Given the description of an element on the screen output the (x, y) to click on. 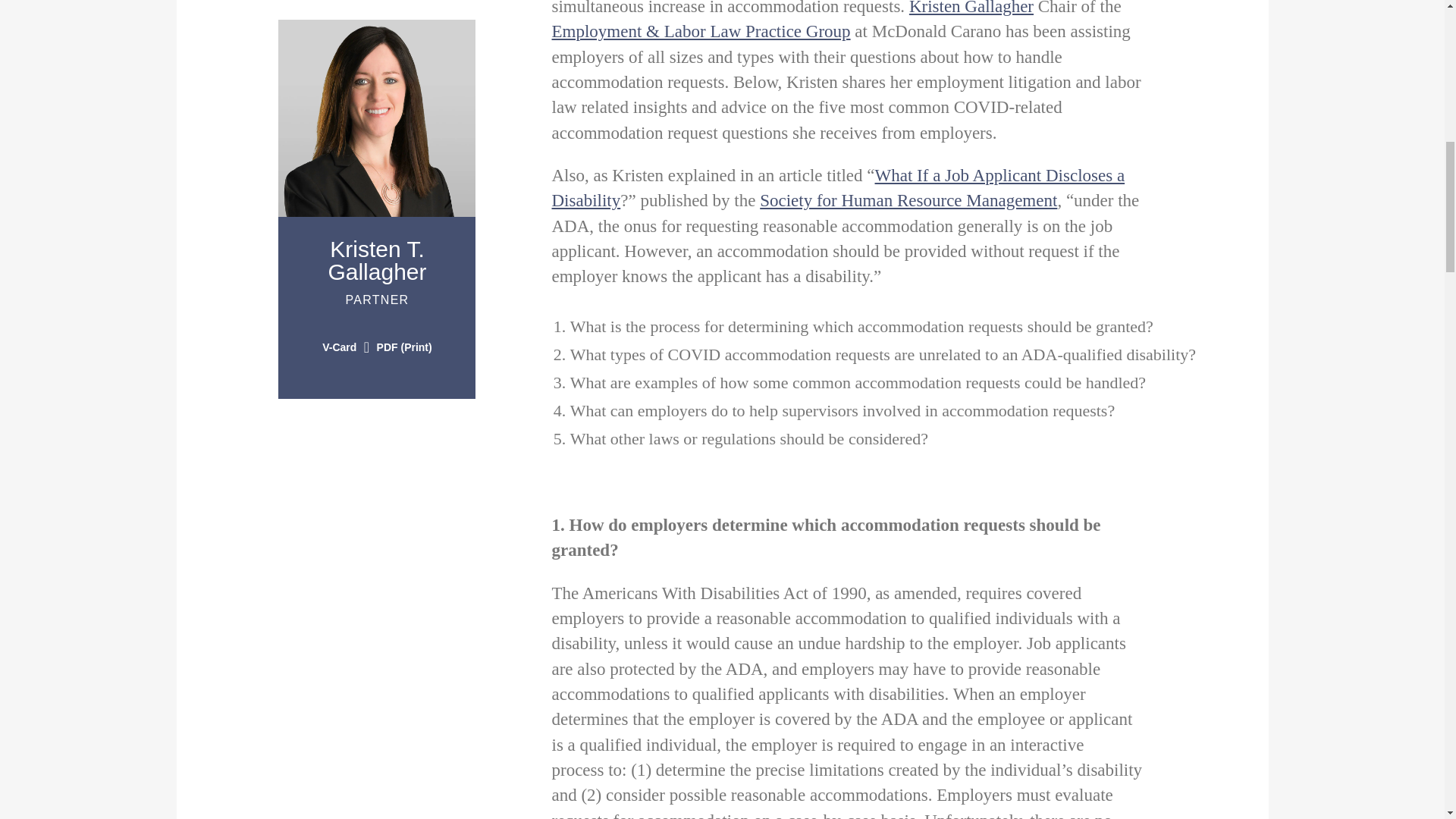
Society for Human Resource Management (908, 199)
What If a Job Applicant Discloses a Disability (838, 187)
PARTNER (376, 260)
Kristen Gallagher (377, 307)
V-Card (970, 7)
